Given the description of an element on the screen output the (x, y) to click on. 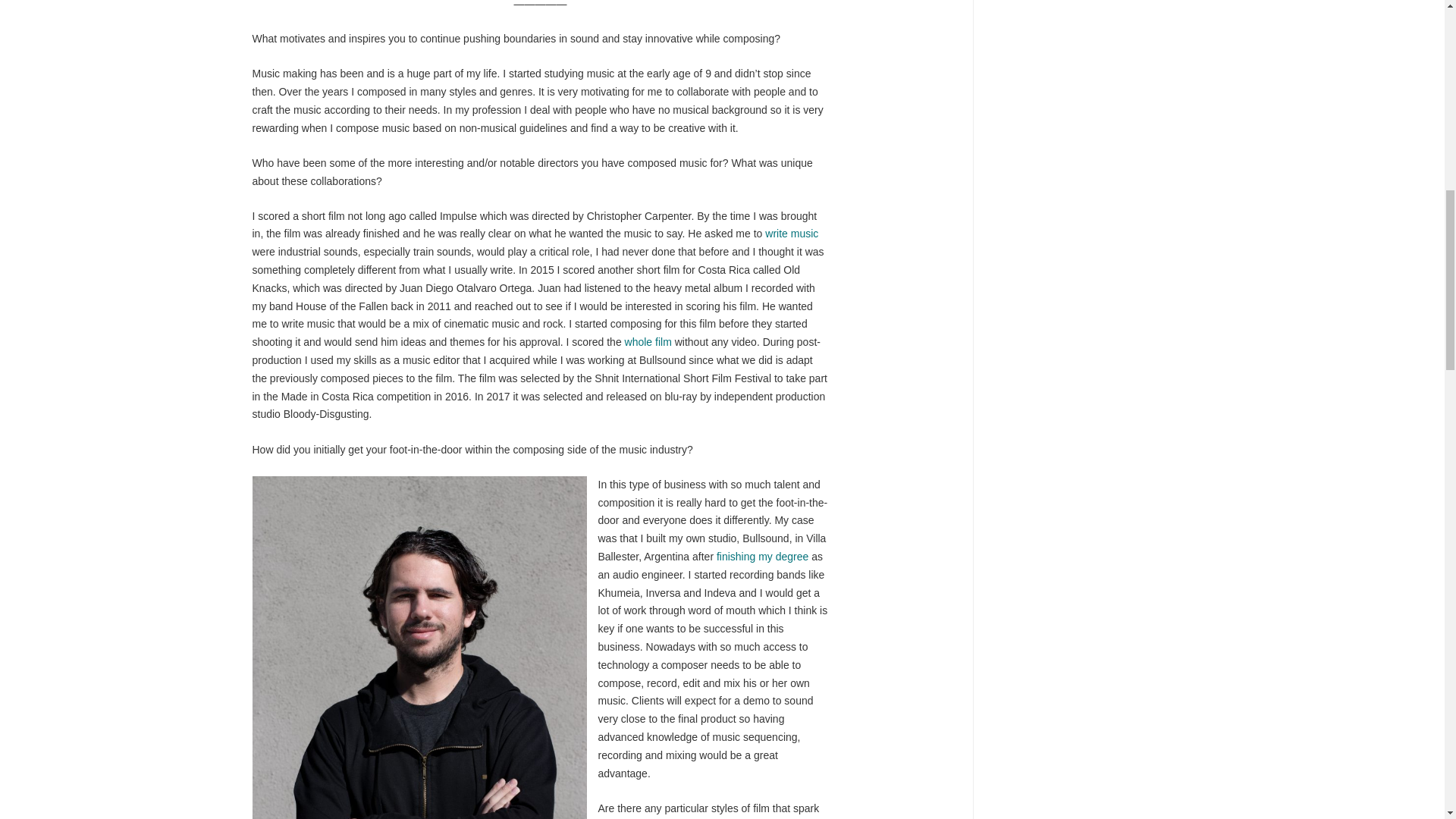
whole film (647, 341)
write music (791, 233)
finishing my degree (762, 556)
